Given the description of an element on the screen output the (x, y) to click on. 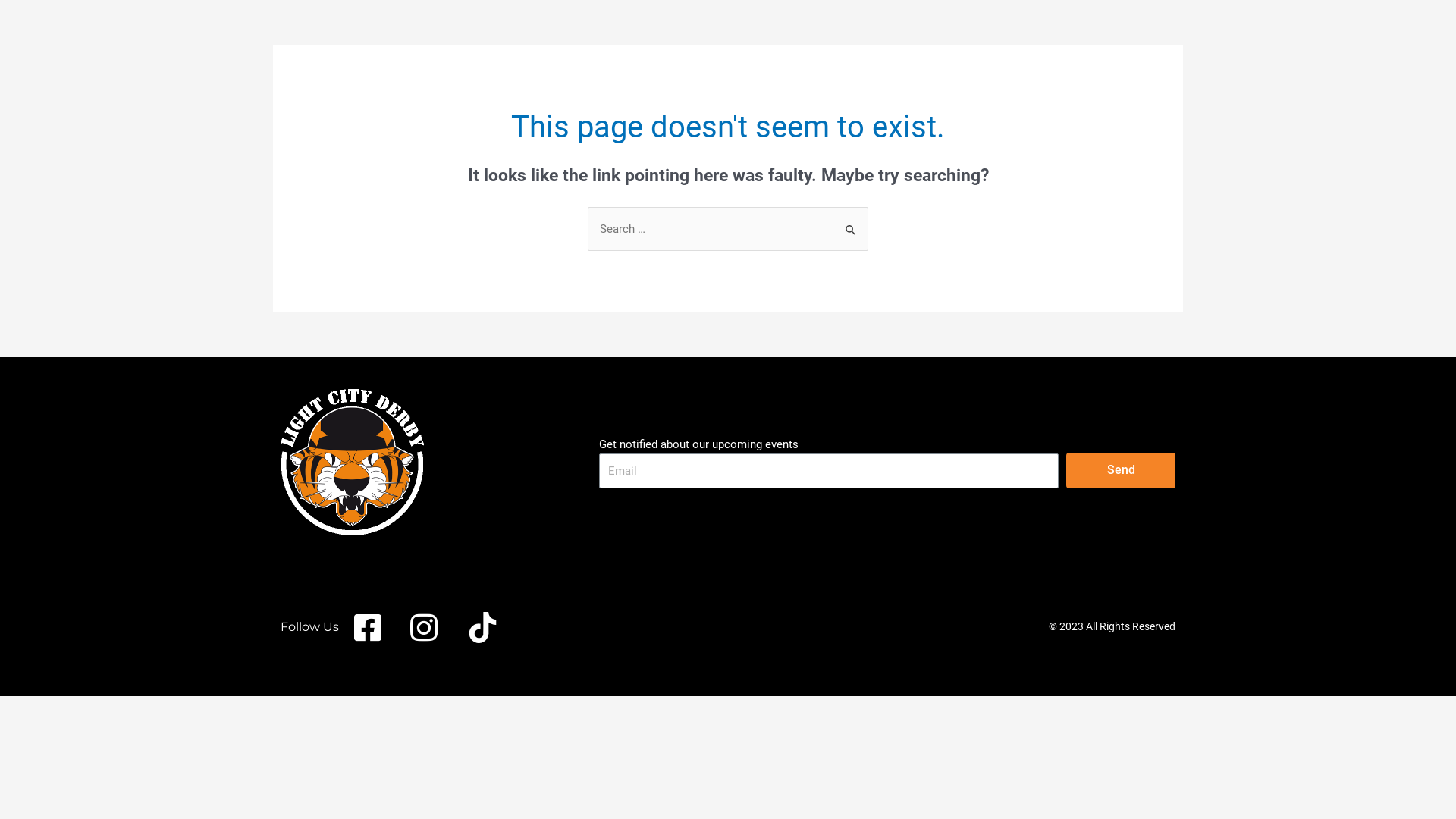
Search Element type: text (851, 222)
Send Element type: text (1120, 470)
